Given the description of an element on the screen output the (x, y) to click on. 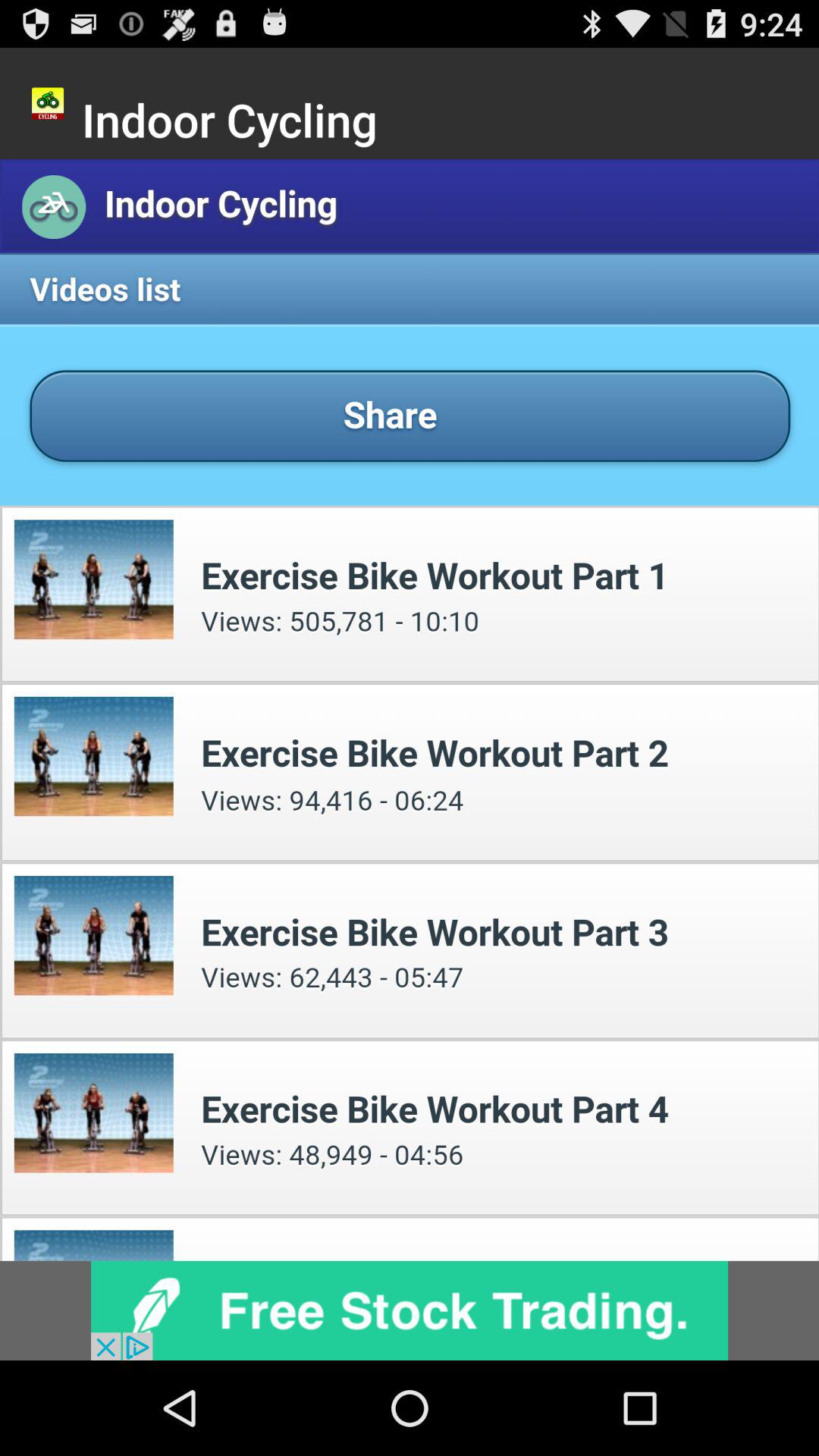
bike workout instruction (409, 709)
